Given the description of an element on the screen output the (x, y) to click on. 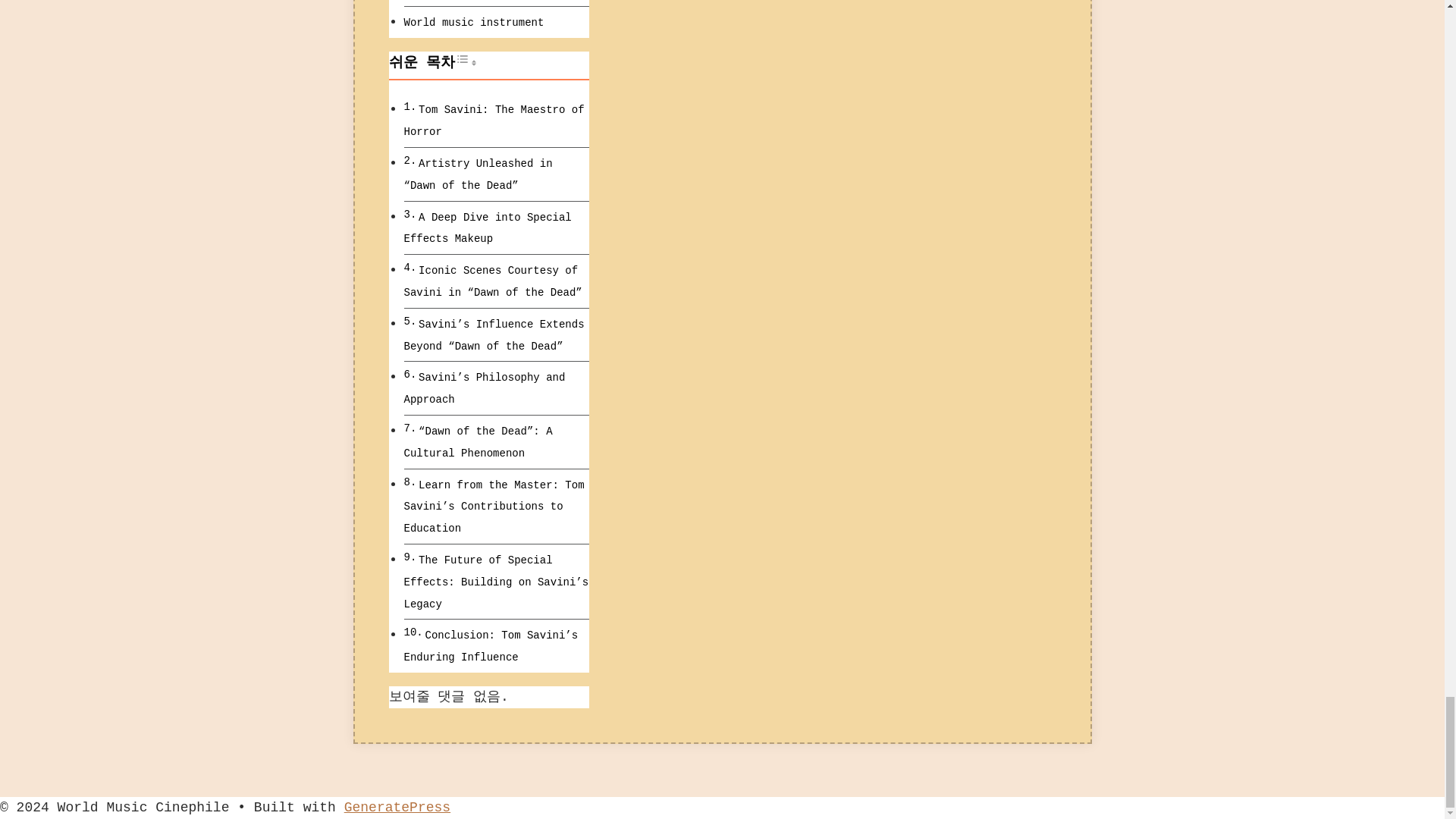
A Deep Dive into Special Effects Makeup (486, 228)
Tom Savini: The Maestro of Horror (493, 121)
